Given the description of an element on the screen output the (x, y) to click on. 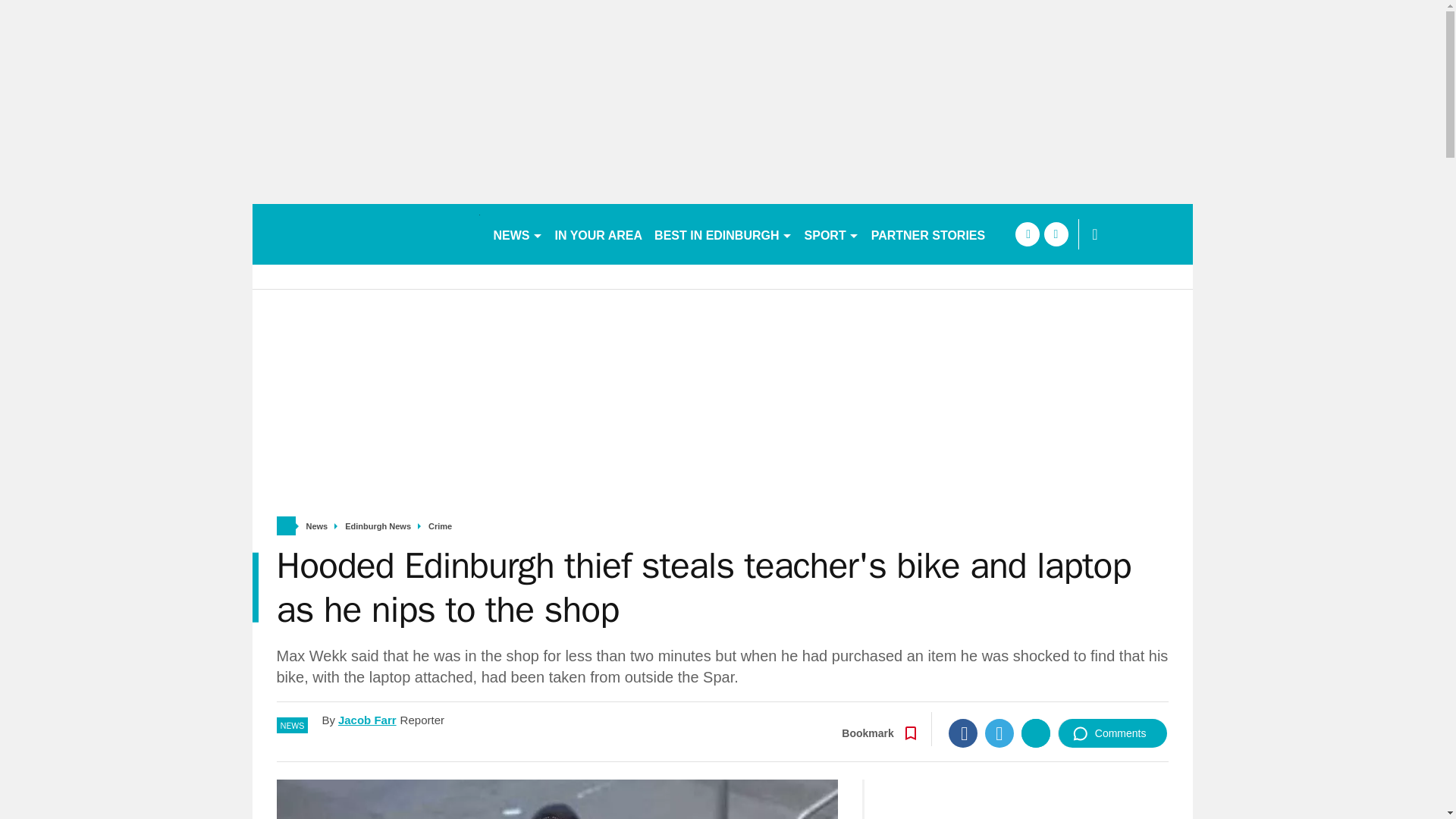
Comments (1112, 733)
BEST IN EDINBURGH (722, 233)
twitter (1055, 233)
PARTNER STORIES (927, 233)
NEWS (517, 233)
Facebook (962, 733)
edinburghlive (365, 233)
VOUCHER CODES (1056, 233)
facebook (1026, 233)
IN YOUR AREA (598, 233)
SPORT (830, 233)
Twitter (999, 733)
